Given the description of an element on the screen output the (x, y) to click on. 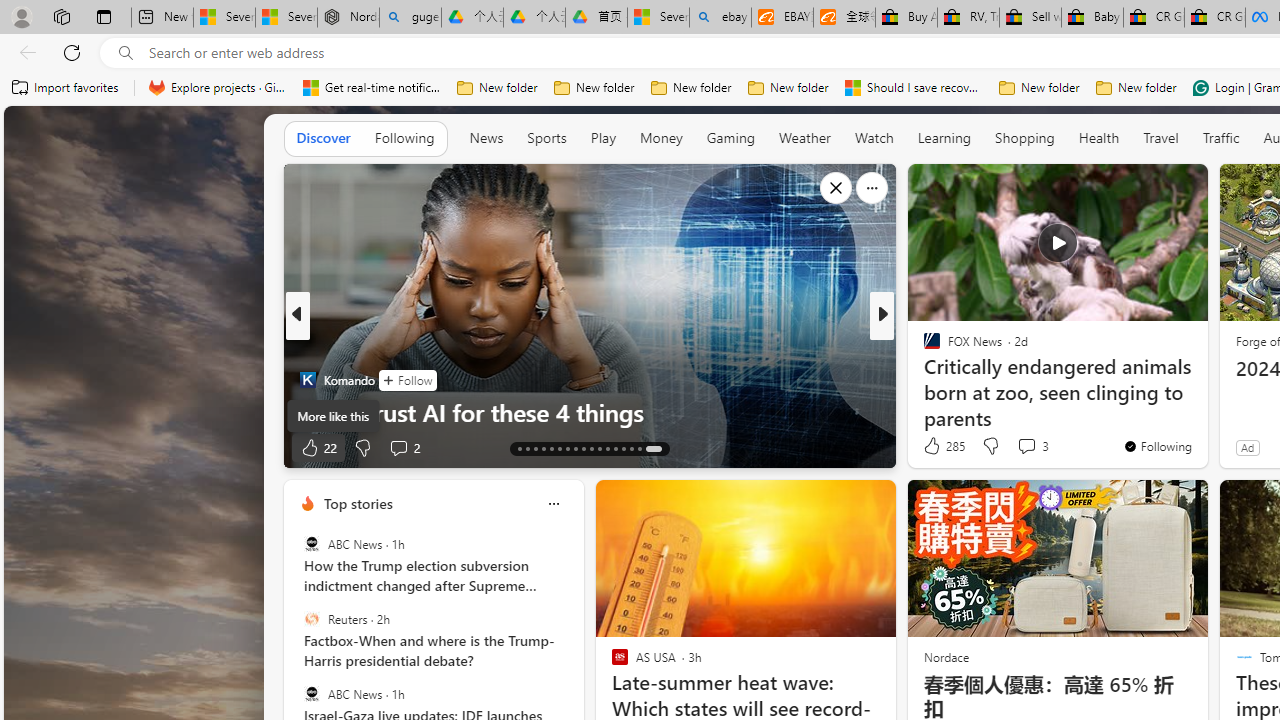
22 Like (317, 447)
Search icon (125, 53)
Top stories (357, 503)
AutomationID: tab-24 (606, 448)
Buy Auto Parts & Accessories | eBay (905, 17)
AutomationID: tab-41 (638, 448)
You're following FOX News (1157, 445)
AutomationID: tab-21 (582, 448)
News (486, 137)
AutomationID: tab-25 (614, 448)
Watch (874, 138)
View comments 3 Comment (1026, 445)
Play (603, 138)
